Given the description of an element on the screen output the (x, y) to click on. 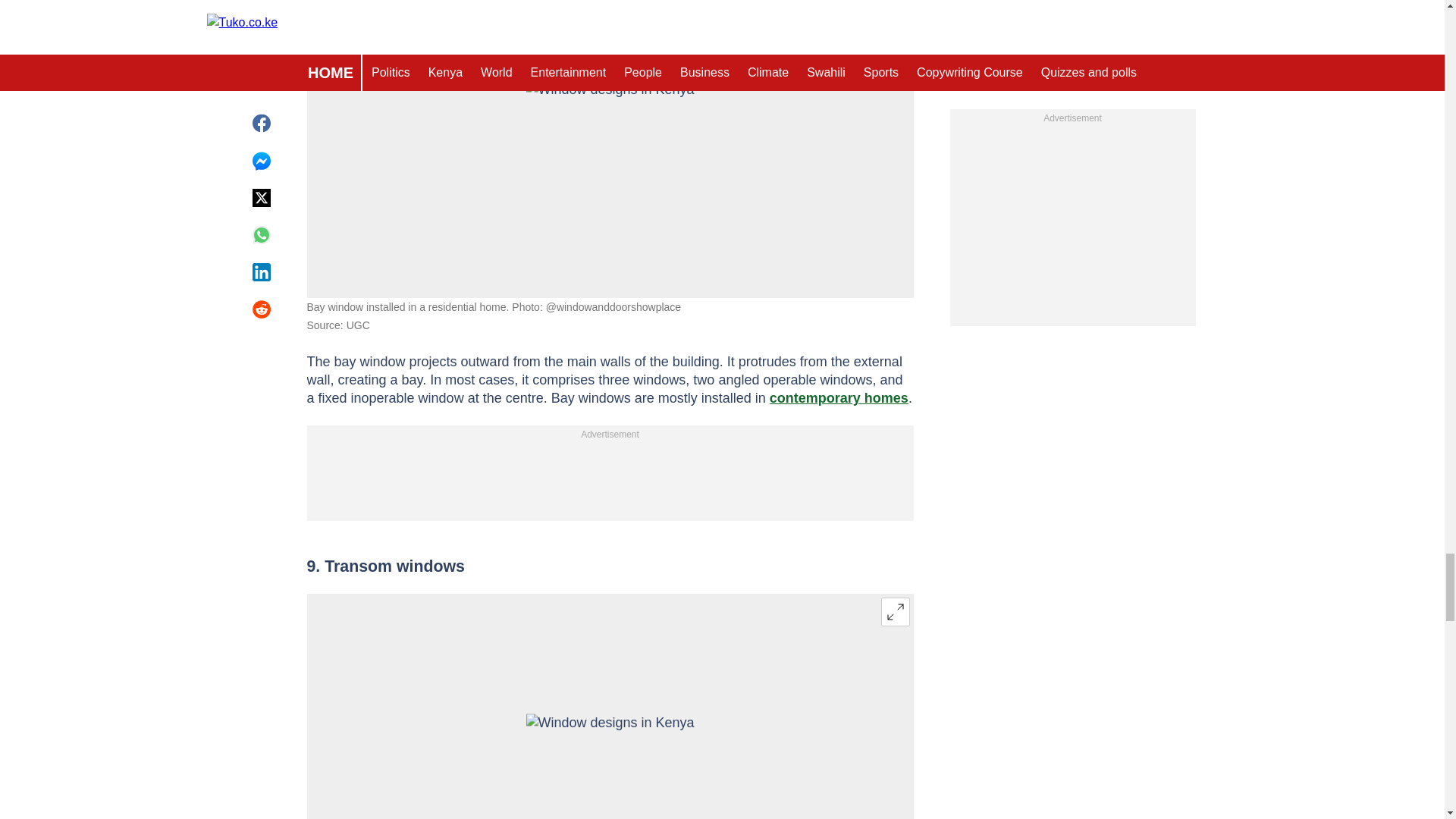
Window designs in Kenya (609, 126)
